Given the description of an element on the screen output the (x, y) to click on. 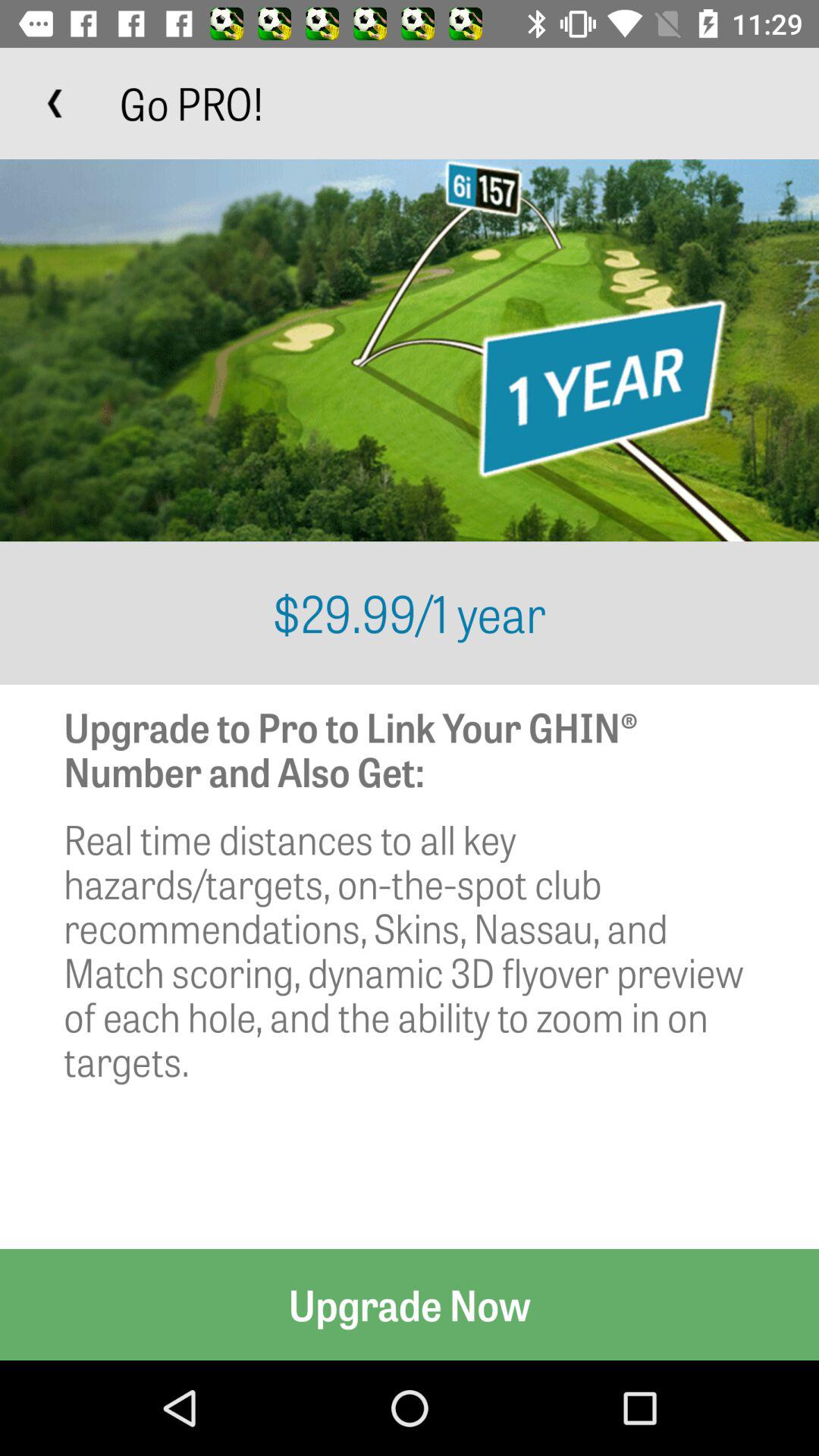
turn on icon next to go pro! app (55, 103)
